Given the description of an element on the screen output the (x, y) to click on. 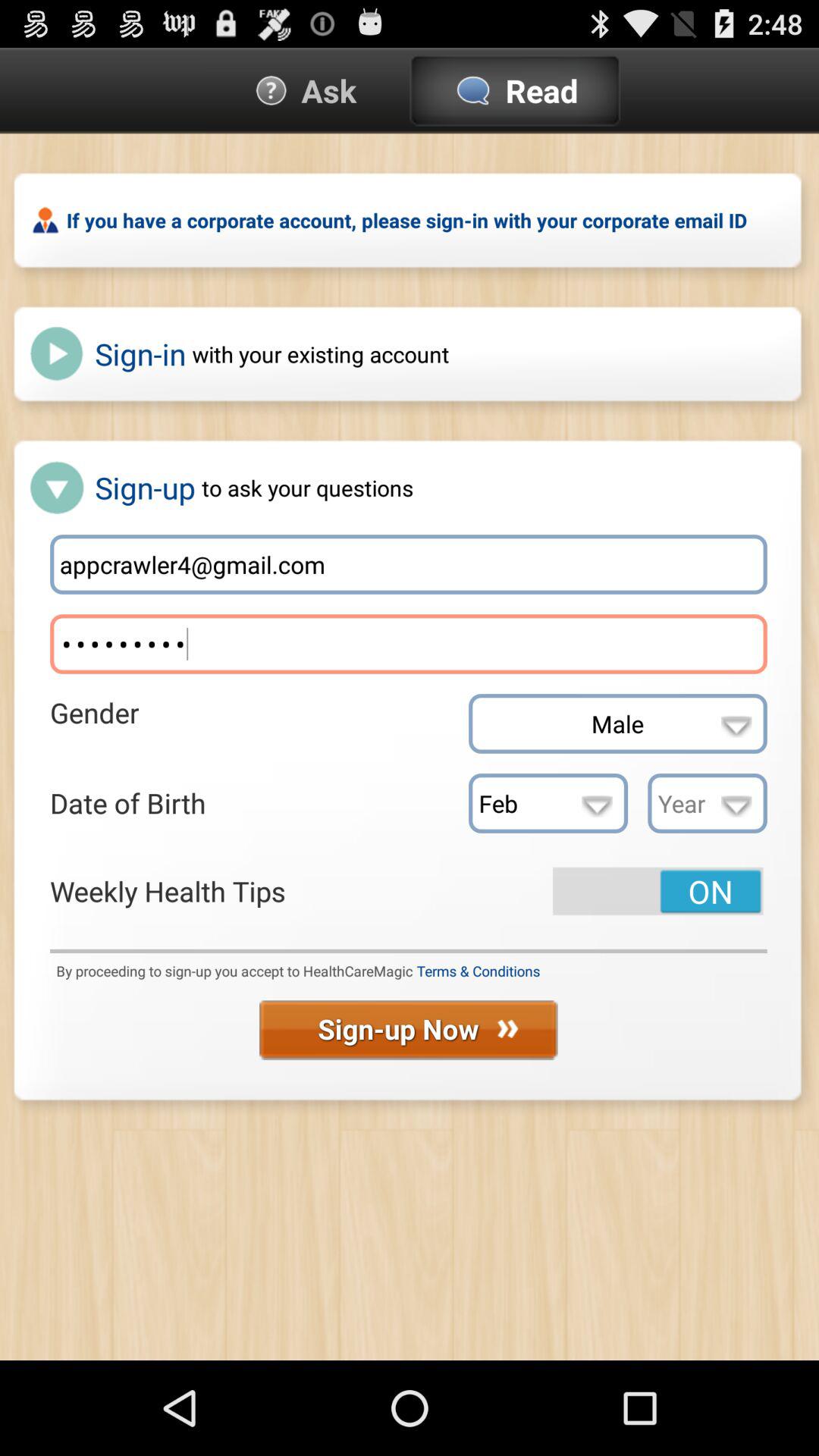
choose the birth year (707, 803)
